Given the description of an element on the screen output the (x, y) to click on. 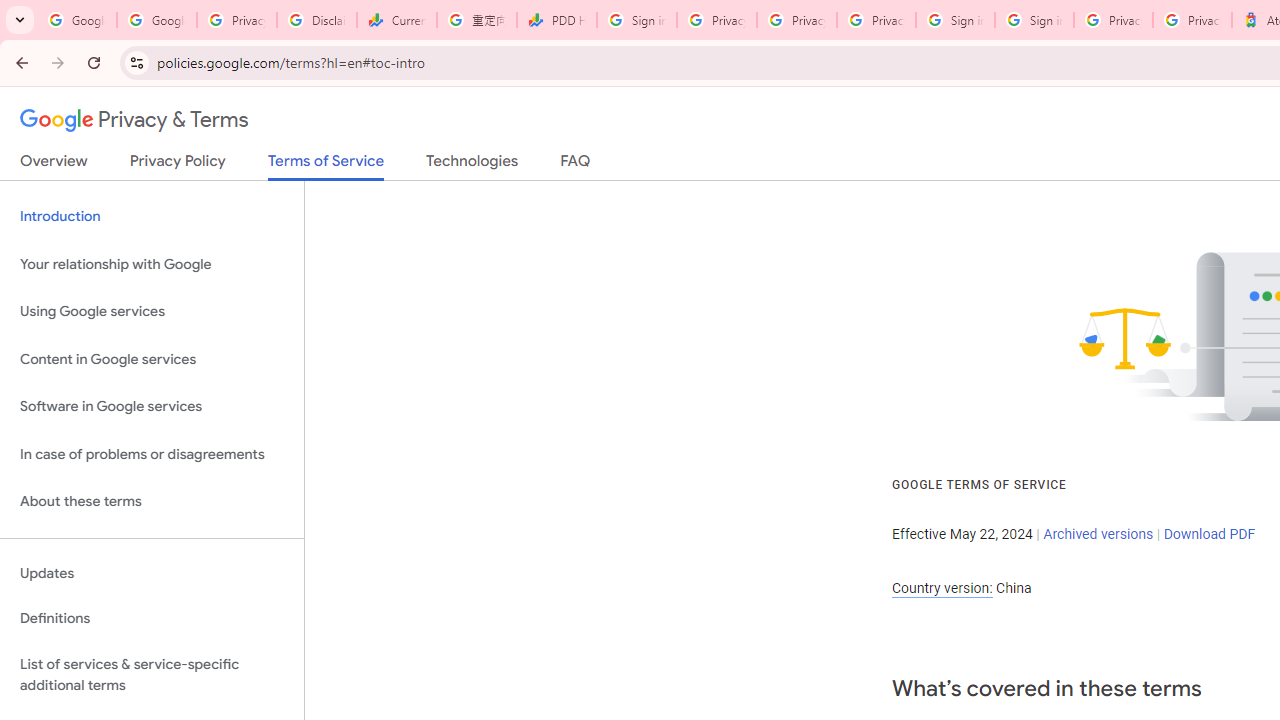
Sign in - Google Accounts (1033, 20)
Privacy Checkup (876, 20)
Currencies - Google Finance (396, 20)
PDD Holdings Inc - ADR (PDD) Price & News - Google Finance (556, 20)
